Given the description of an element on the screen output the (x, y) to click on. 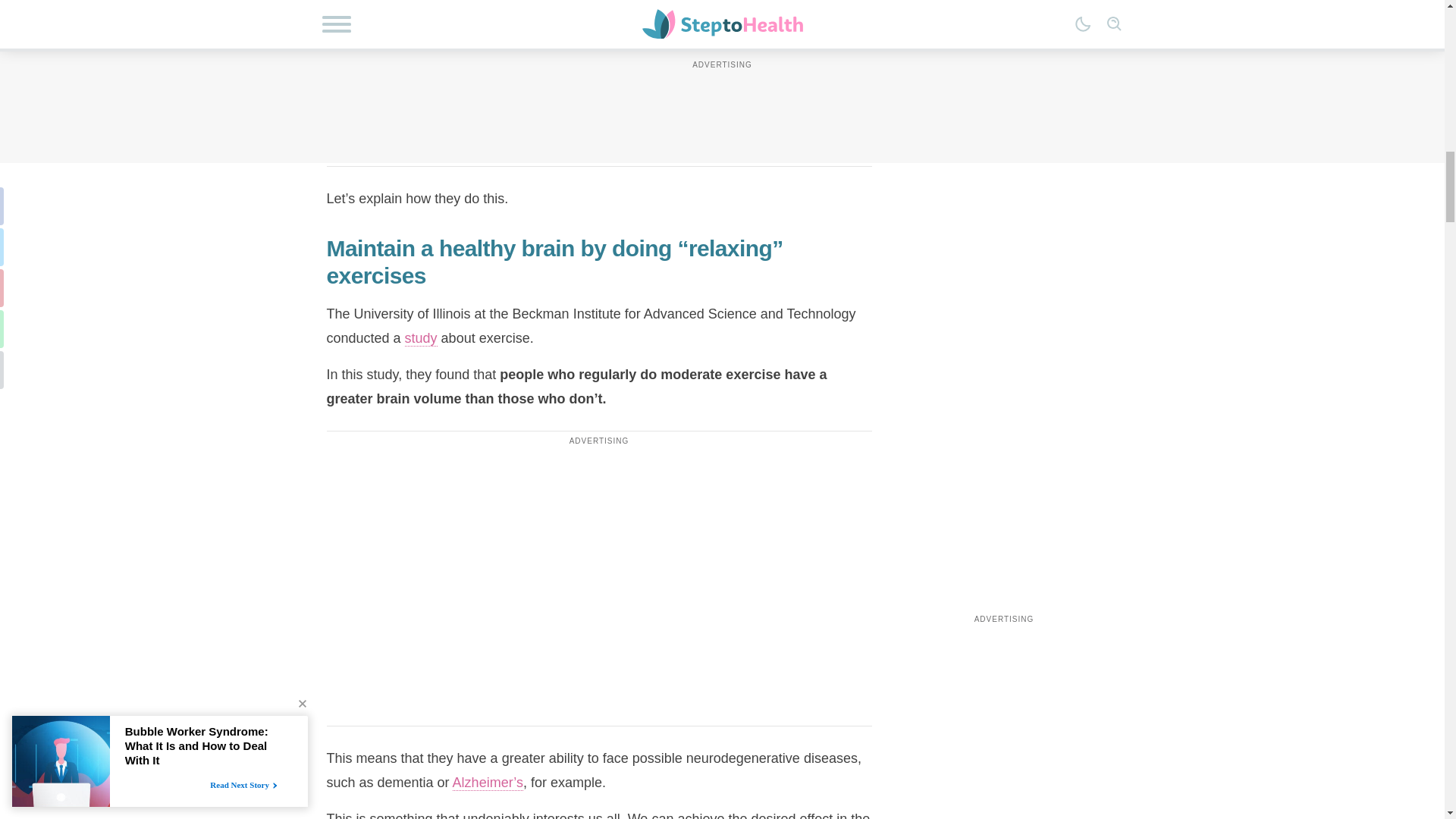
study (421, 338)
